Given the description of an element on the screen output the (x, y) to click on. 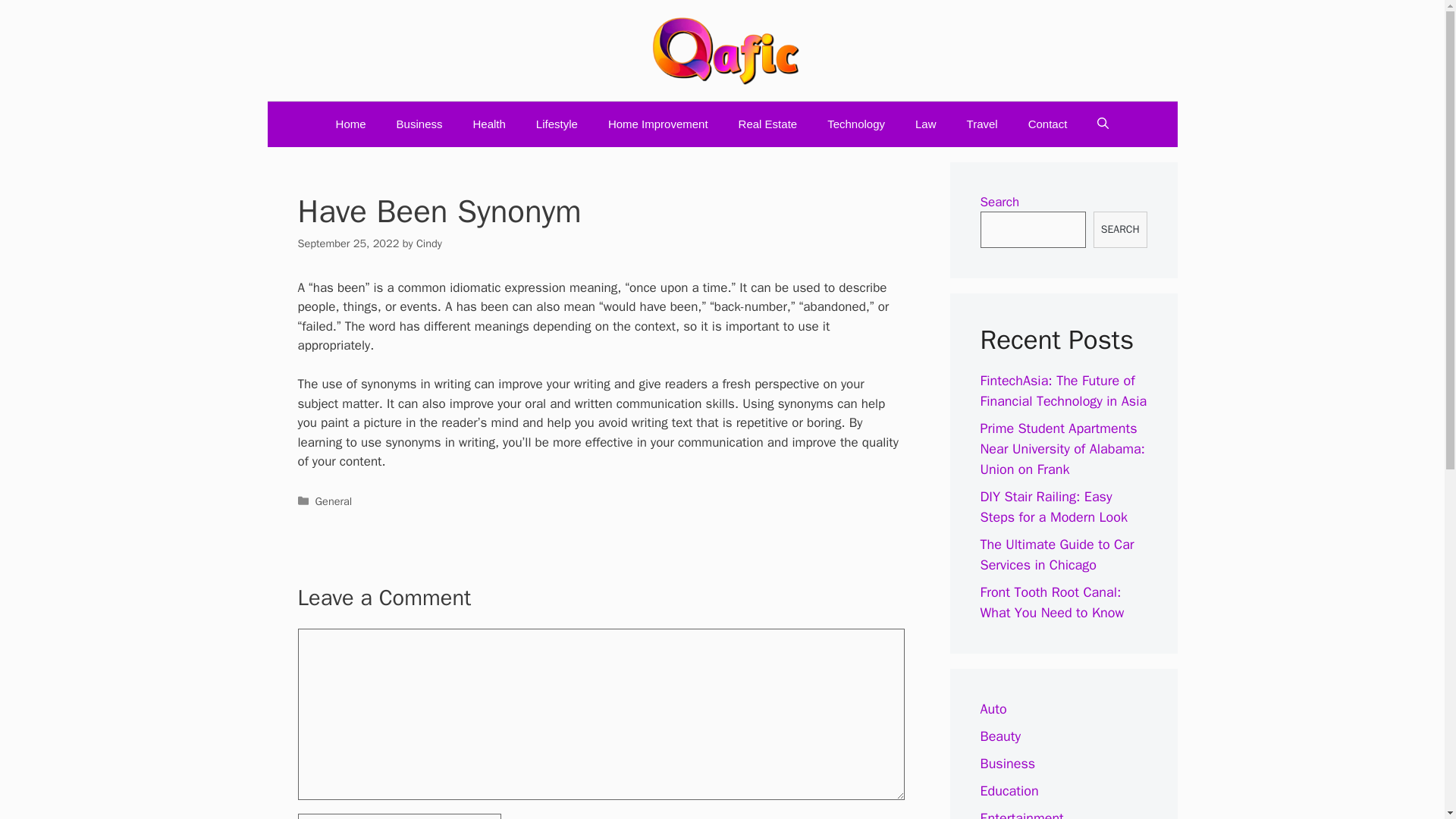
Auto (992, 709)
Home Improvement (657, 124)
Real Estate (767, 124)
Education (1008, 790)
Front Tooth Root Canal: What You Need to Know (1051, 601)
Cindy (429, 243)
SEARCH (1120, 229)
Business (419, 124)
Entertainment (1020, 814)
